Given the description of an element on the screen output the (x, y) to click on. 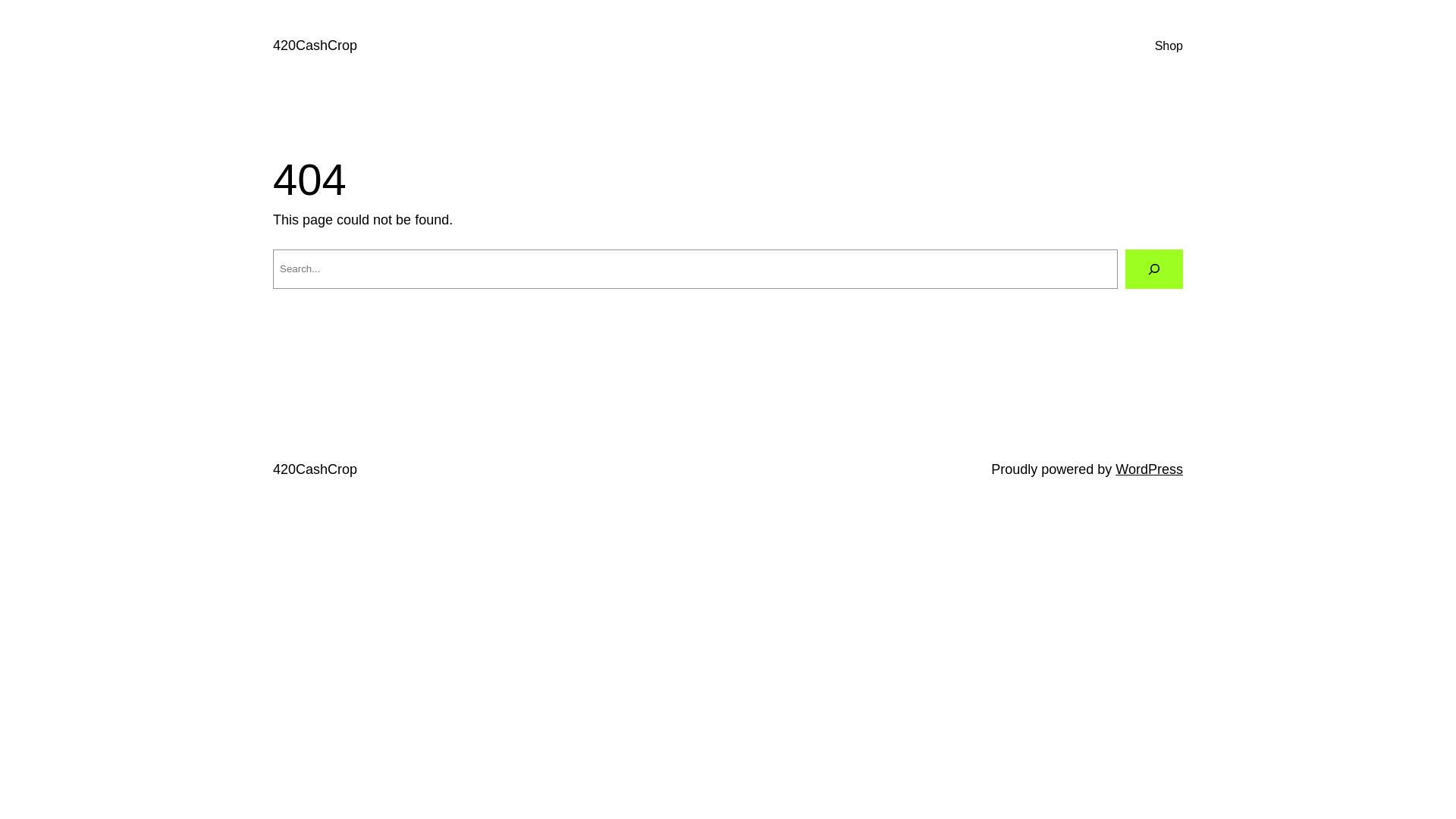
WordPress Element type: text (1149, 468)
420CashCrop Element type: text (315, 45)
420CashCrop Element type: text (315, 468)
Shop Element type: text (1168, 46)
